Given the description of an element on the screen output the (x, y) to click on. 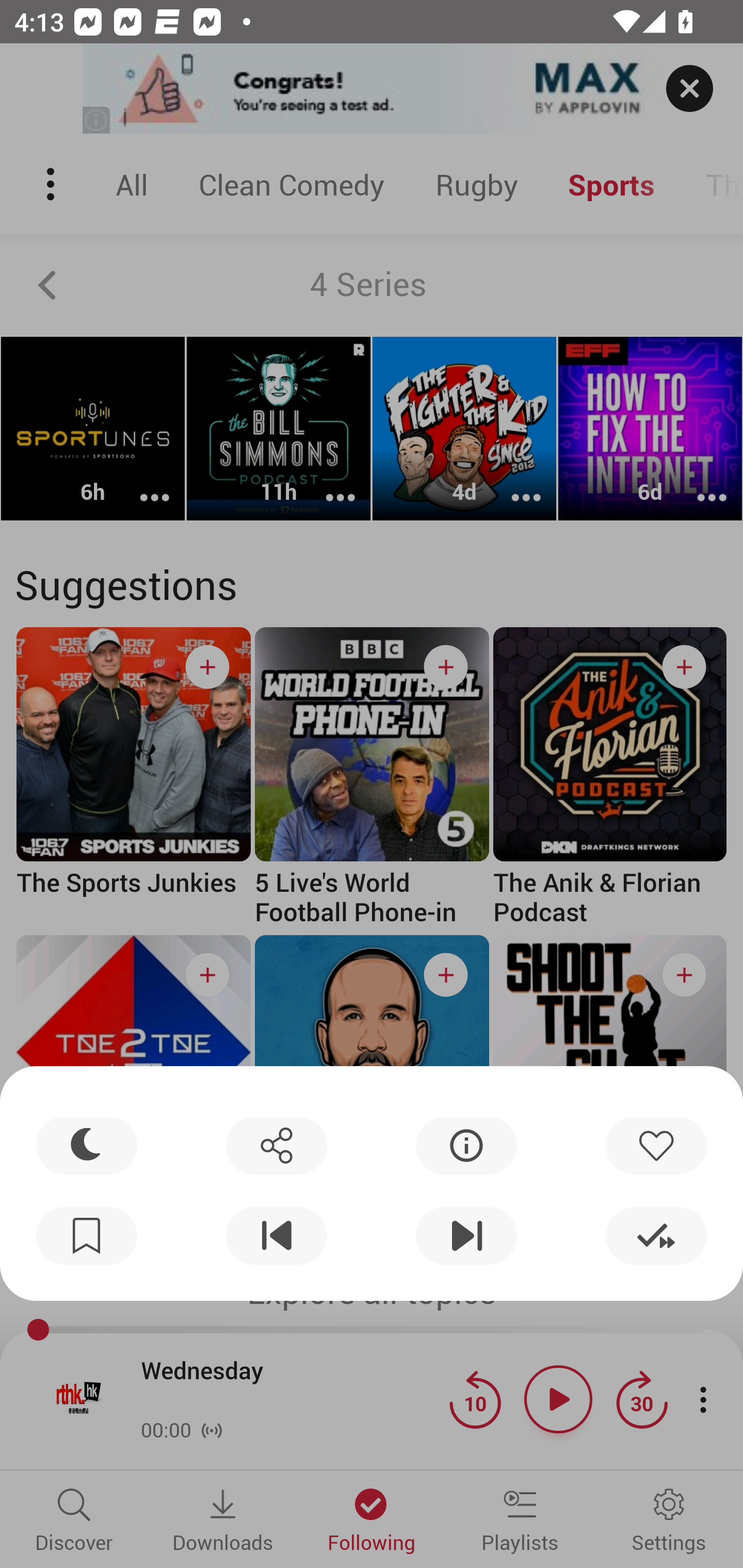
Sleep timer (86, 1145)
Share (275, 1145)
Info (466, 1145)
Like (655, 1145)
New bookmark … (86, 1236)
Previous (275, 1236)
Next (466, 1236)
Mark played and next (655, 1236)
